Given the description of an element on the screen output the (x, y) to click on. 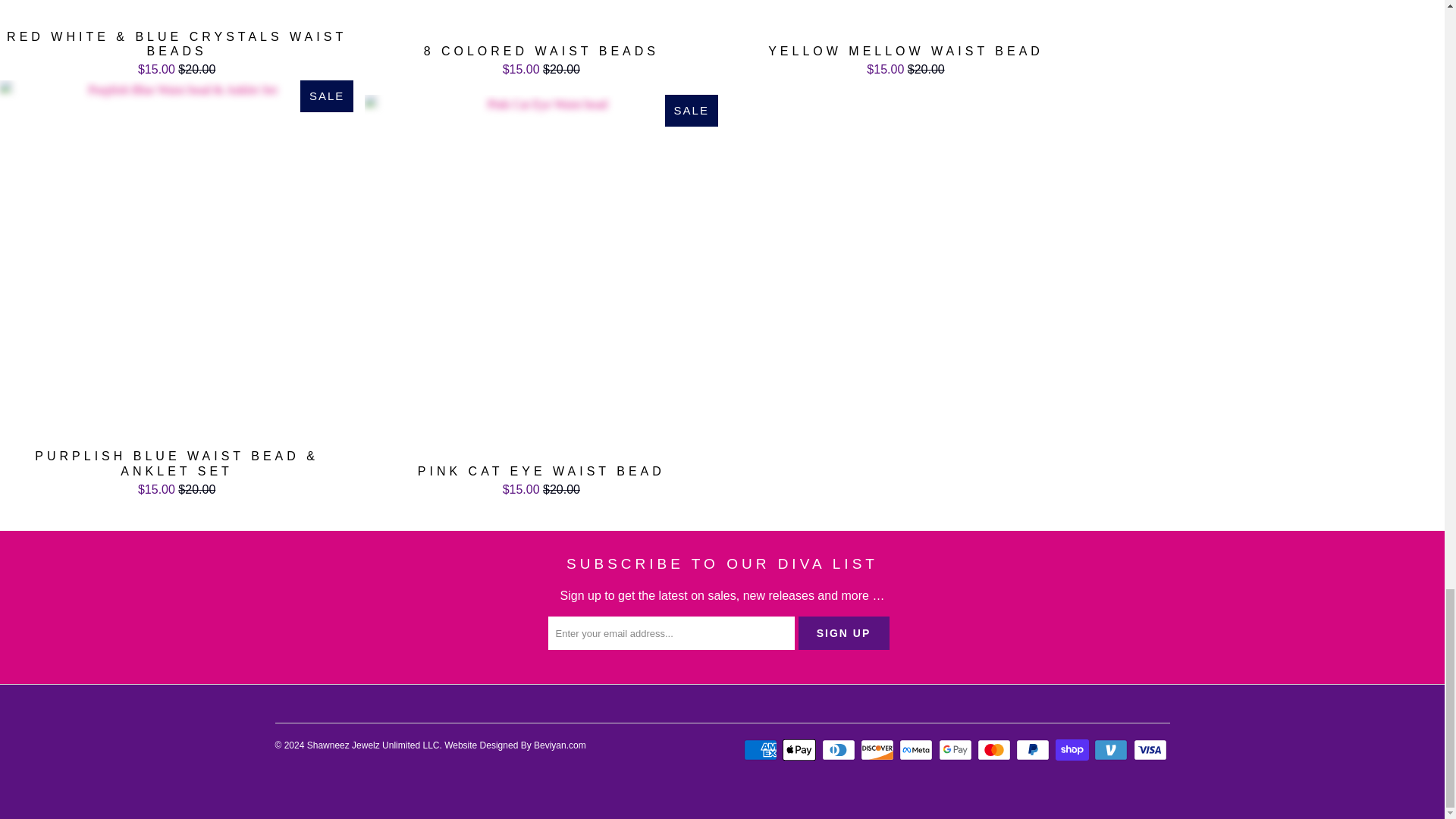
Shop Pay (1073, 749)
Visa (1150, 749)
PayPal (1034, 749)
Meta Pay (917, 749)
Diners Club (840, 749)
Google Pay (957, 749)
Mastercard (994, 749)
American Express (762, 749)
Apple Pay (800, 749)
Discover (878, 749)
